Given the description of an element on the screen output the (x, y) to click on. 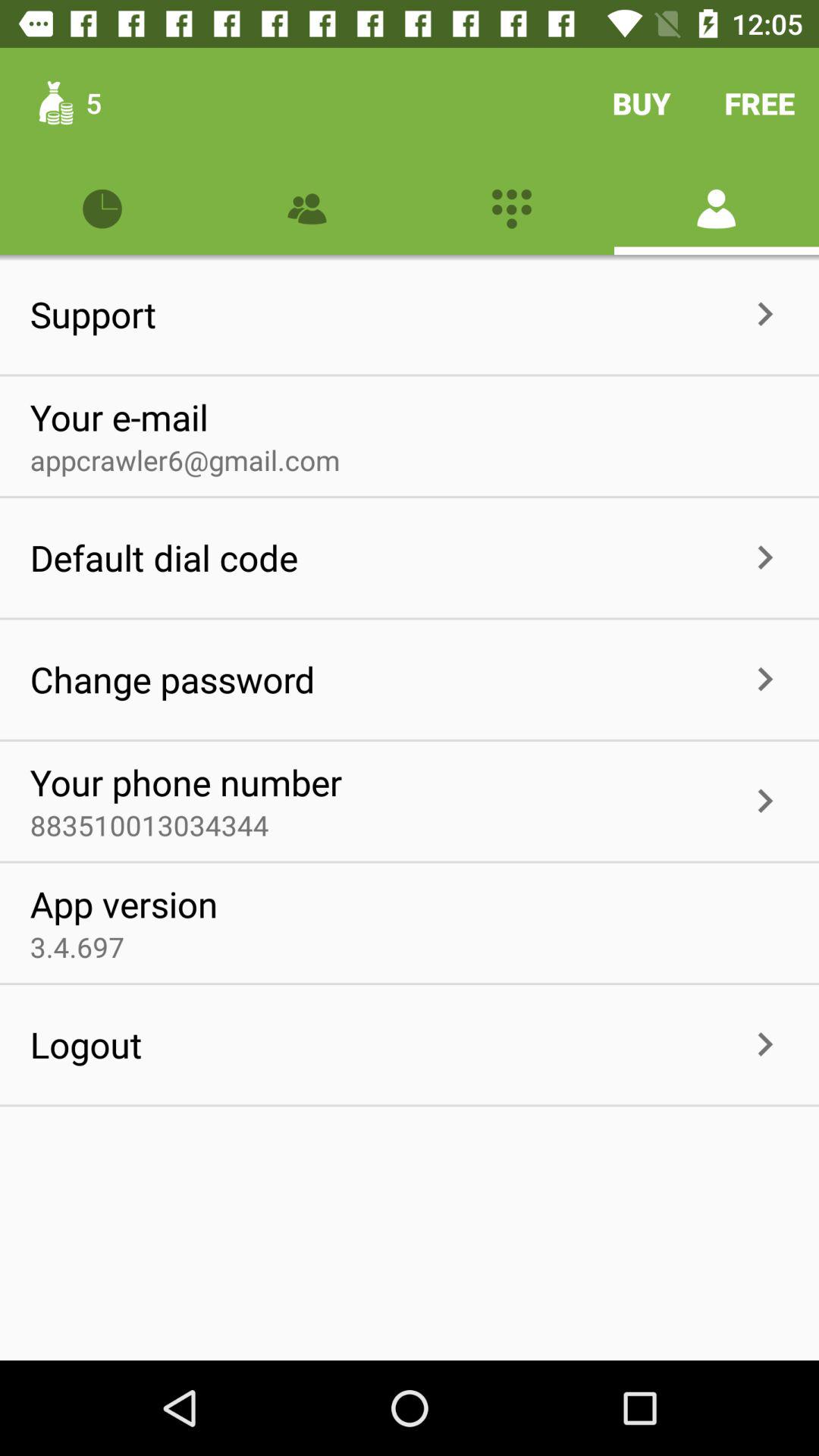
turn off the item at the bottom right corner (764, 1044)
